Given the description of an element on the screen output the (x, y) to click on. 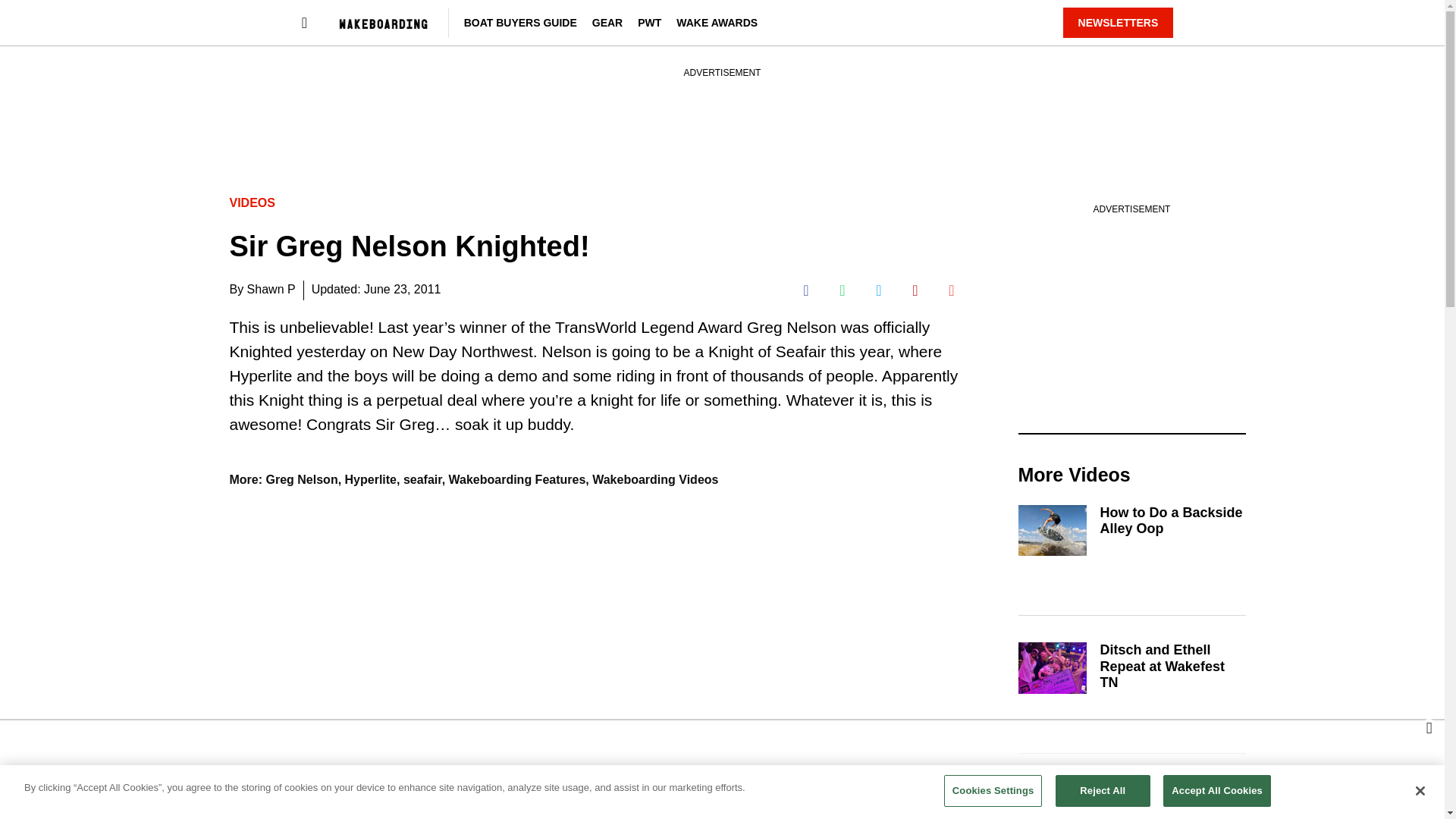
NEWSLETTERS (1117, 22)
WAKE AWARDS (717, 22)
BOAT BUYERS GUIDE (520, 22)
GEAR (607, 22)
